Given the description of an element on the screen output the (x, y) to click on. 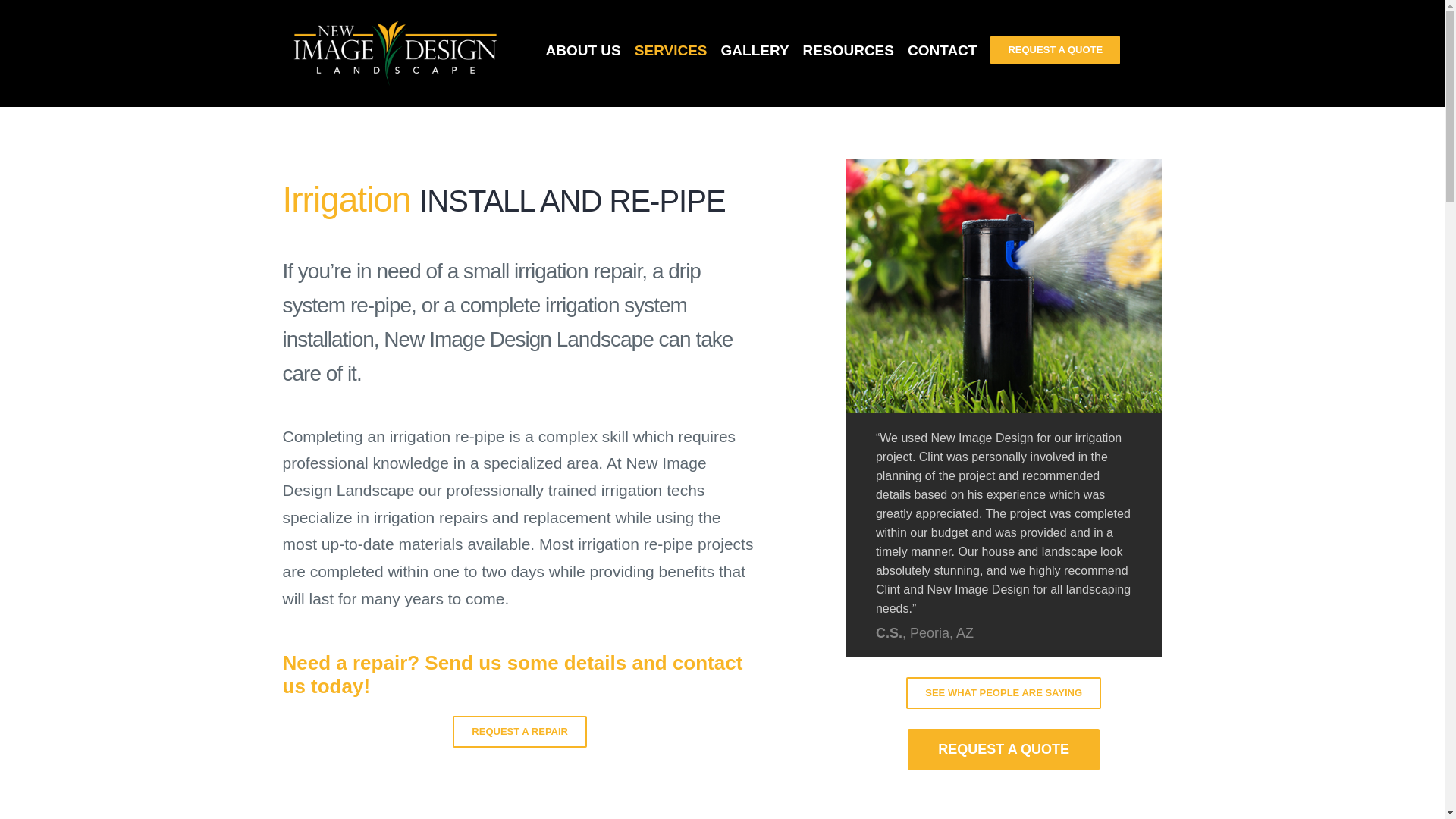
SERVICES (670, 49)
CONTACT (941, 49)
Request a quote (1002, 693)
GALLERY (754, 49)
Request a quote (1003, 749)
ABOUT US (583, 49)
Request a Repair (519, 731)
RESOURCES (848, 49)
REQUEST A QUOTE (1054, 49)
